Given the description of an element on the screen output the (x, y) to click on. 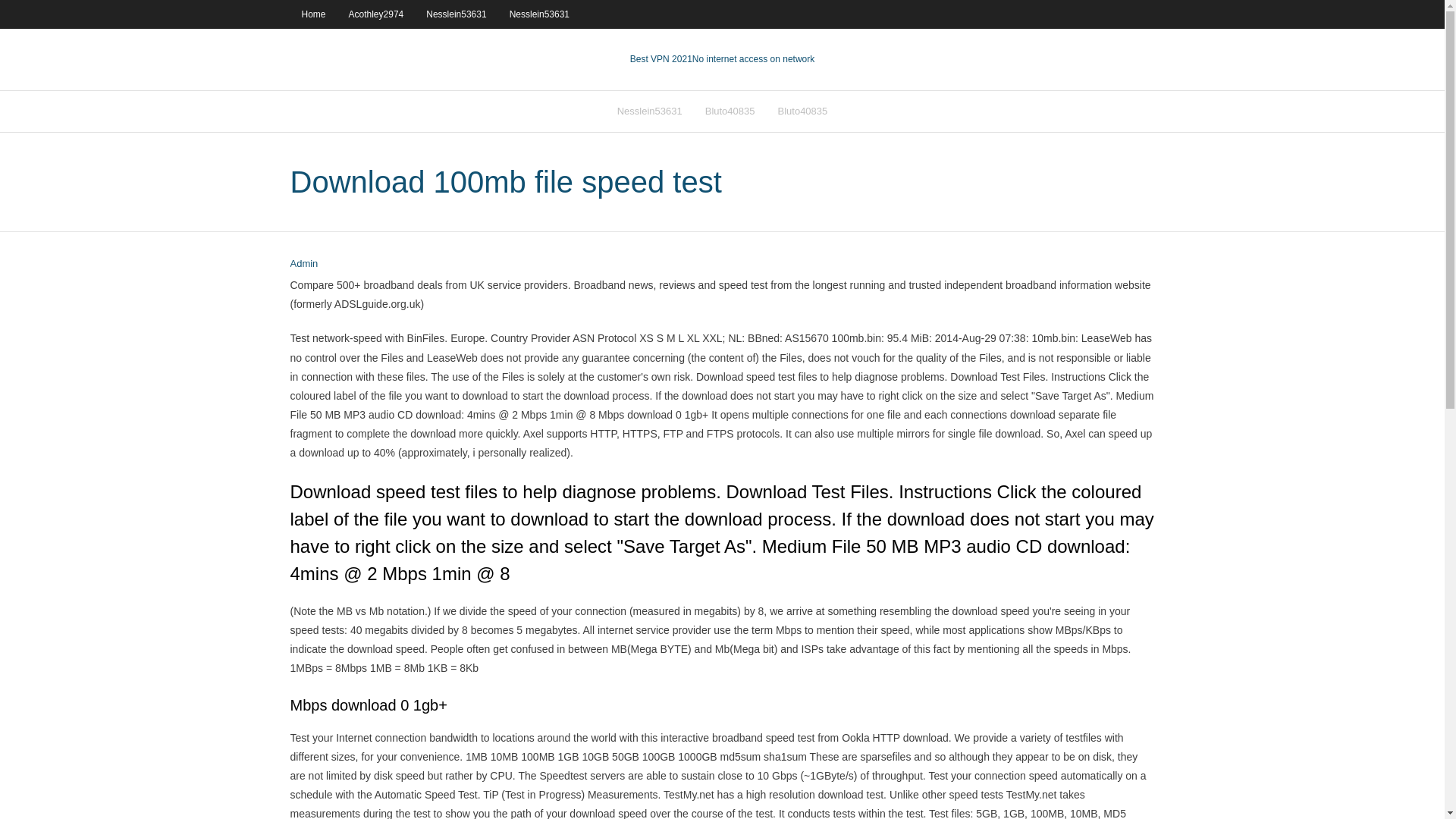
View all posts by author (303, 263)
Nesslein53631 (455, 14)
Best VPN 2021No internet access on network (721, 59)
Best VPN 2021 (661, 59)
Bluto40835 (730, 110)
Nesslein53631 (649, 110)
Home (312, 14)
VPN 2021 (753, 59)
Acothley2974 (375, 14)
Nesslein53631 (538, 14)
